Given the description of an element on the screen output the (x, y) to click on. 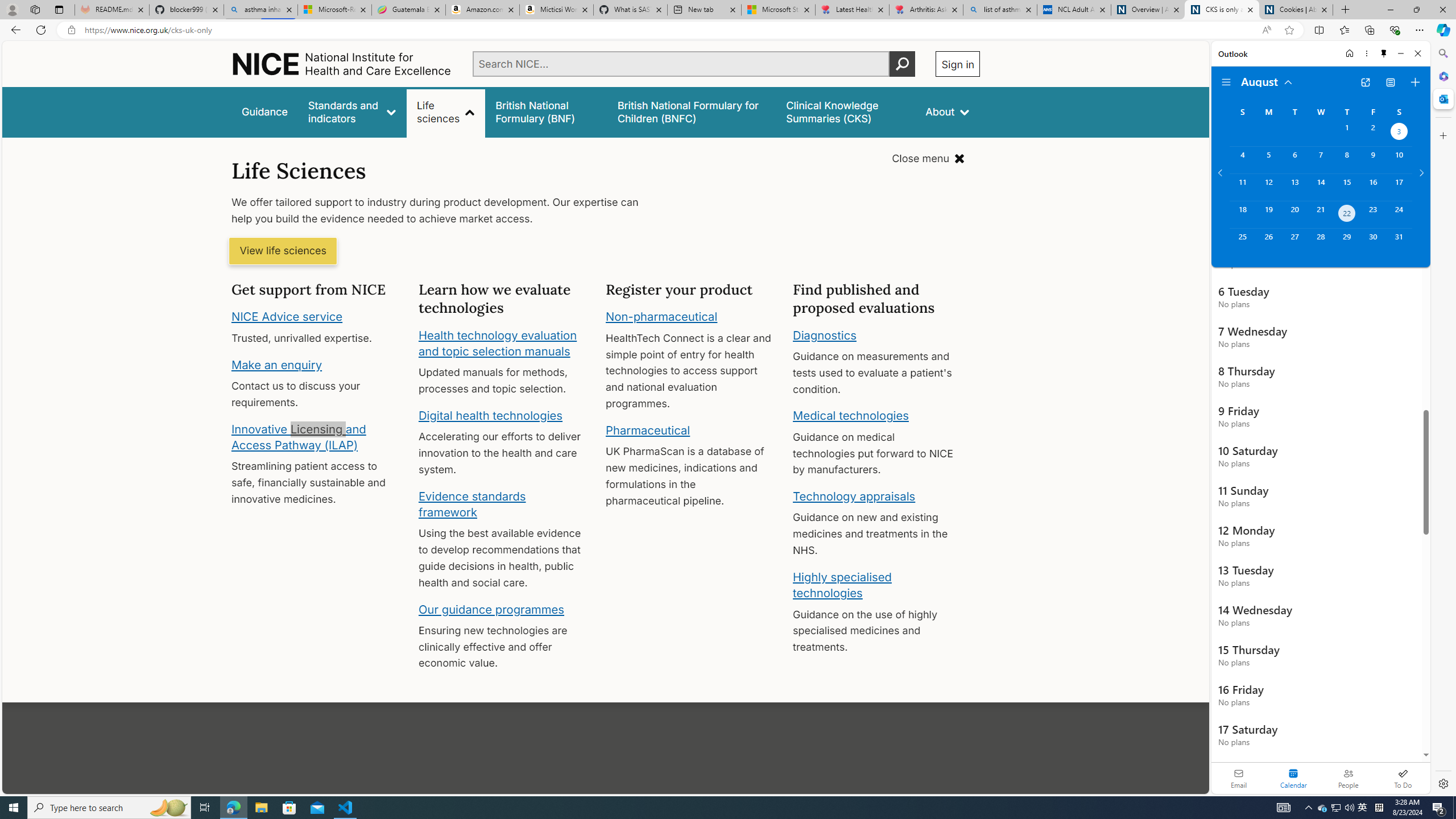
Non-pharmaceutical (661, 316)
Folder navigation (1225, 82)
Saturday, August 31, 2024.  (1399, 241)
Sunday, August 4, 2024.  (1242, 159)
Tuesday, August 13, 2024.  (1294, 186)
